Given the description of an element on the screen output the (x, y) to click on. 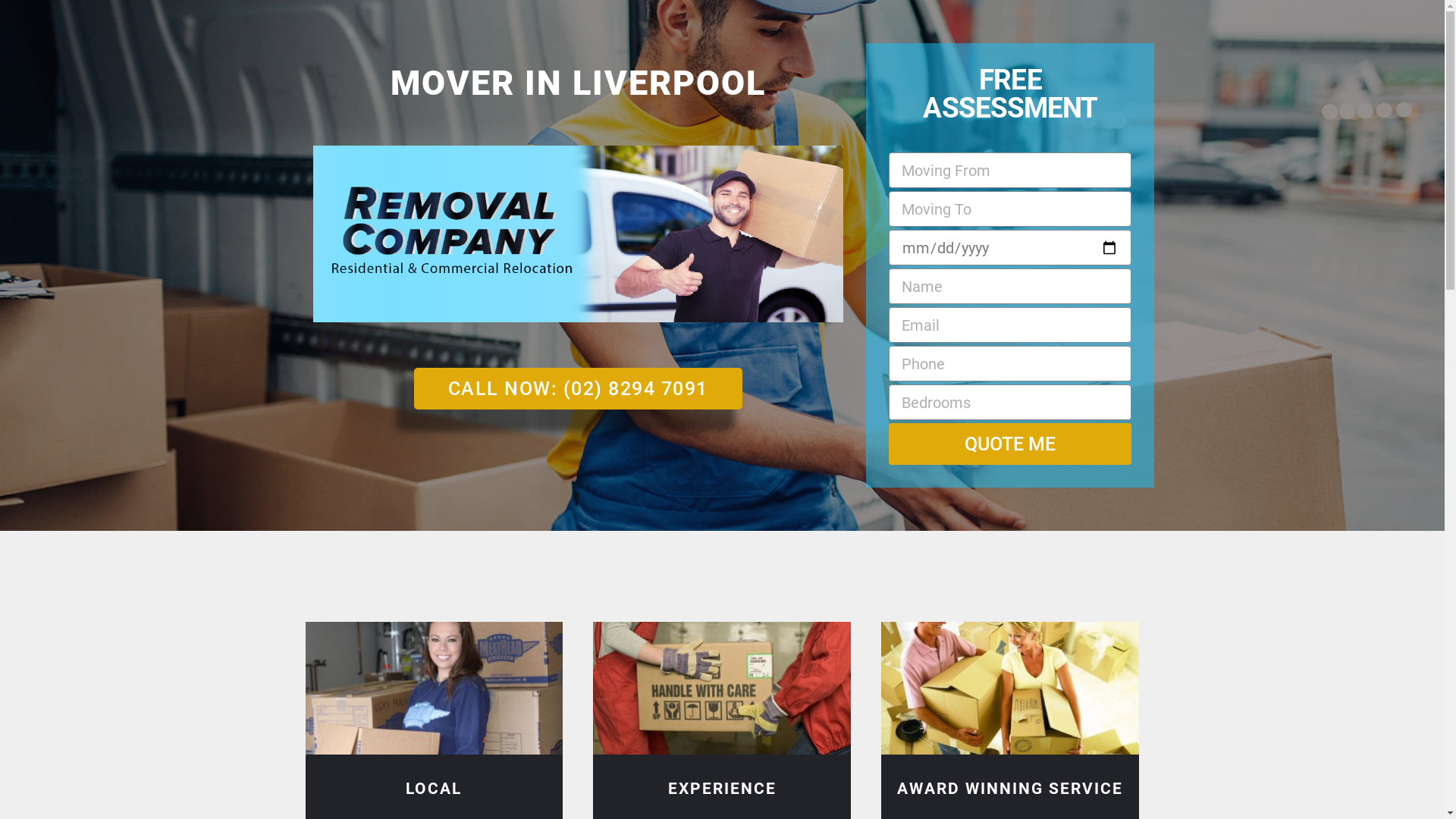
QUOTE ME Element type: text (1009, 443)
Local Liverpool Removalists Element type: hover (433, 687)
Award Winning Removal Services Liverpool Element type: hover (1010, 687)
CALL NOW: (02) 8294 7091 Element type: text (578, 388)
Experienced Removalists Liverpool Element type: hover (721, 687)
